Given the description of an element on the screen output the (x, y) to click on. 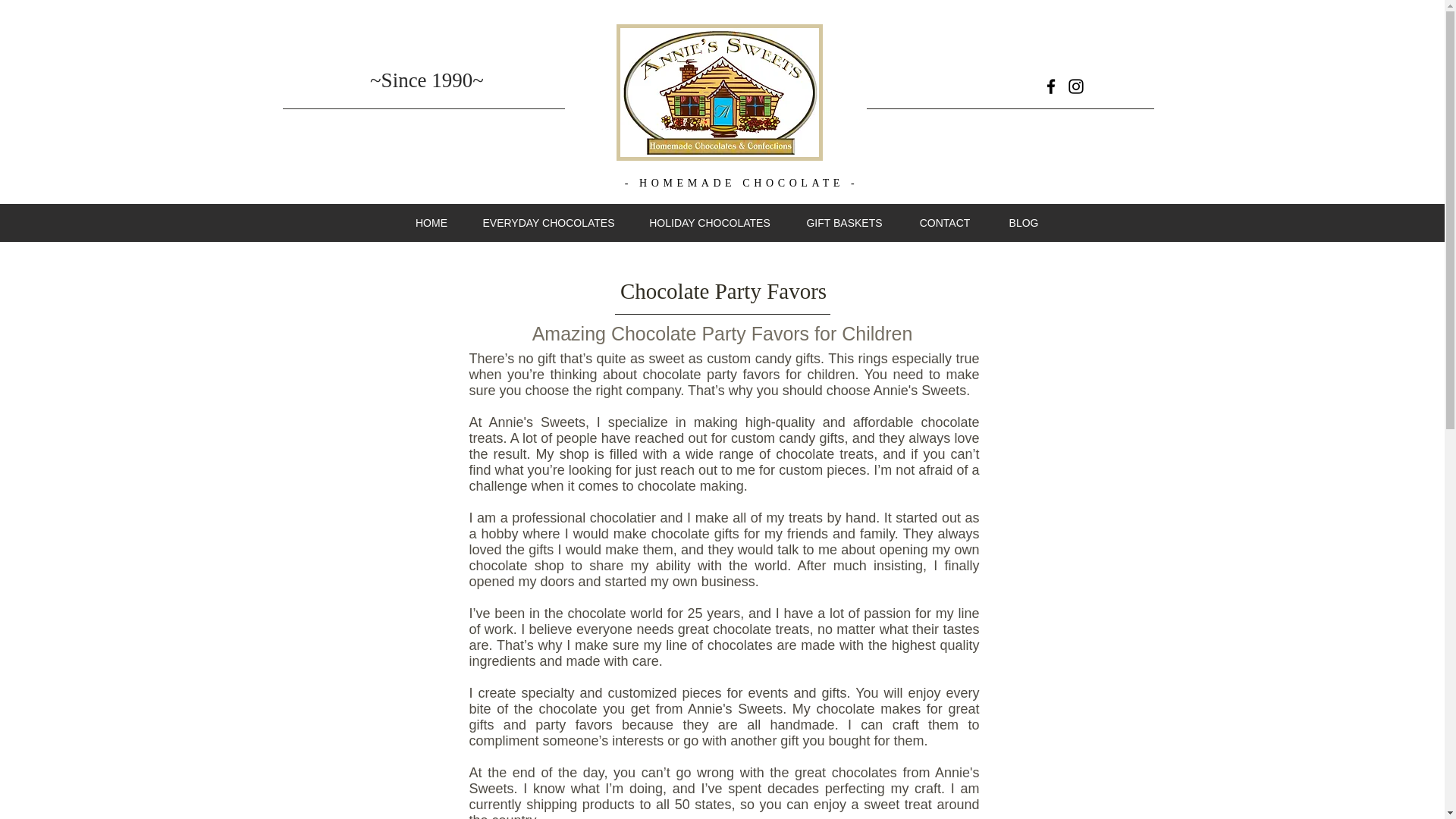
HOLIDAY CHOCOLATES (709, 222)
EVERYDAY CHOCOLATES (548, 222)
HOME (430, 222)
GIFT BASKETS (844, 222)
BLOG (1024, 222)
CONTACT (944, 222)
